Given the description of an element on the screen output the (x, y) to click on. 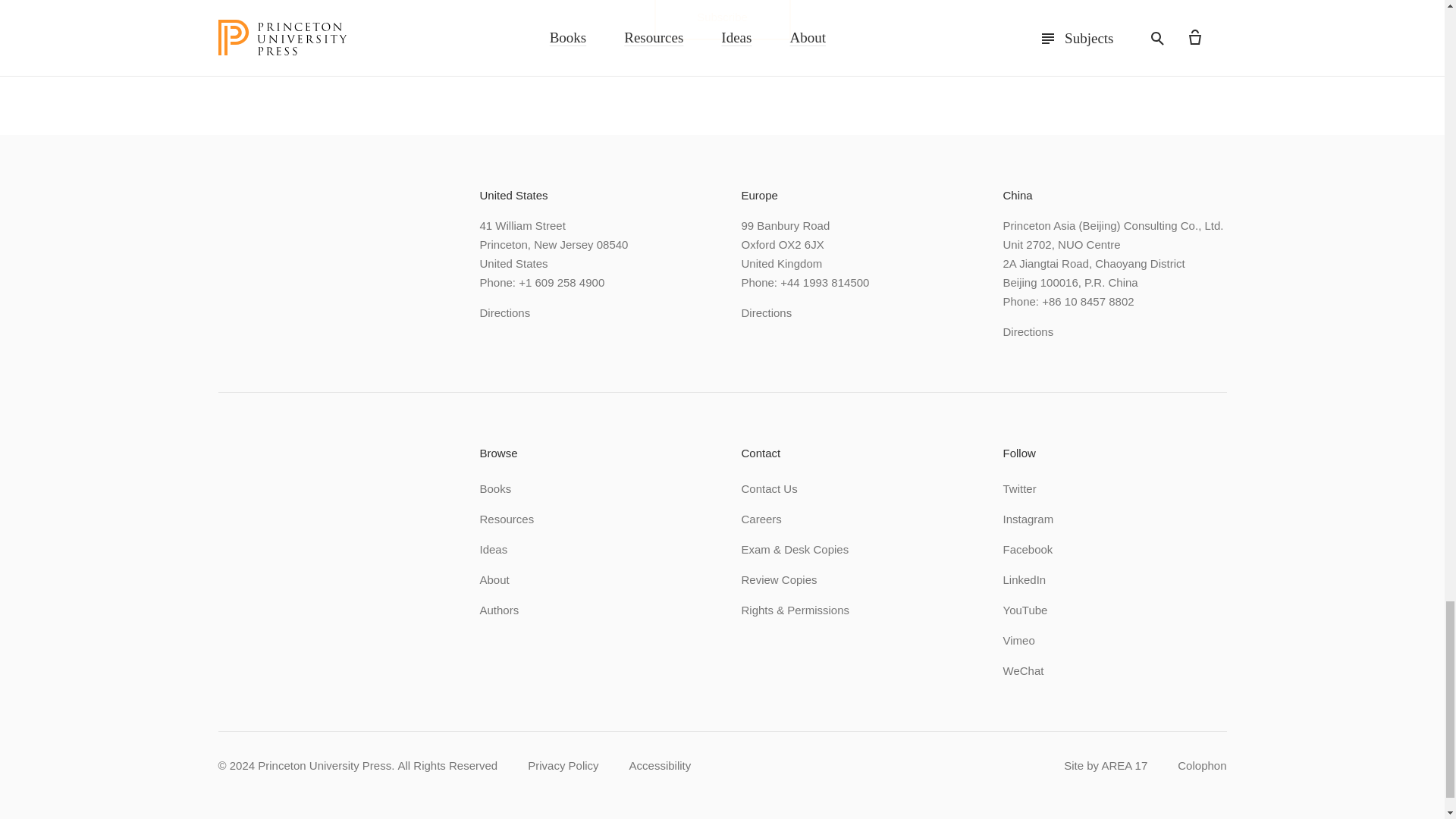
Subscribe (721, 20)
Subscribe (721, 20)
